Given the description of an element on the screen output the (x, y) to click on. 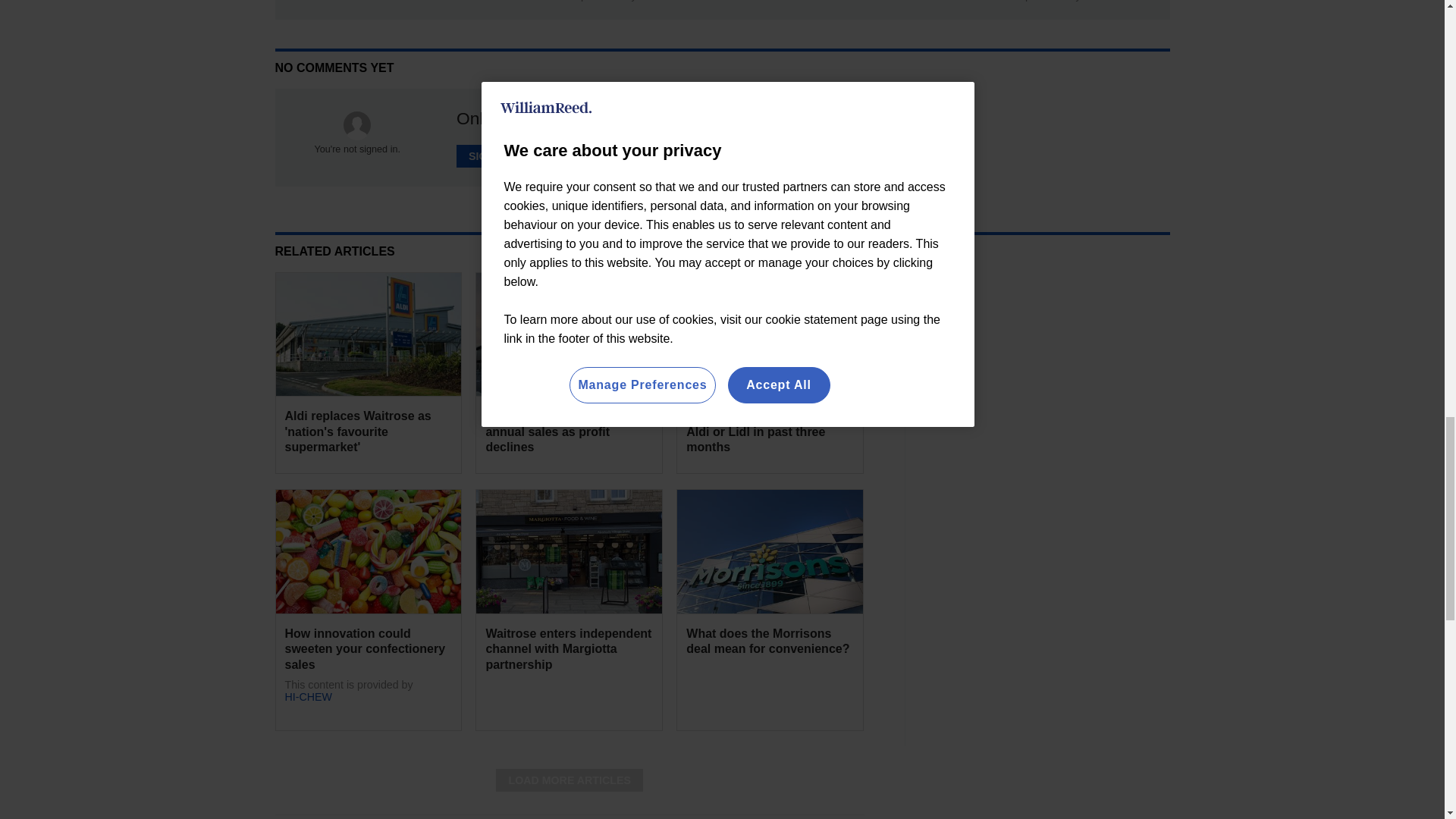
3rd party ad content (1055, 366)
